Given the description of an element on the screen output the (x, y) to click on. 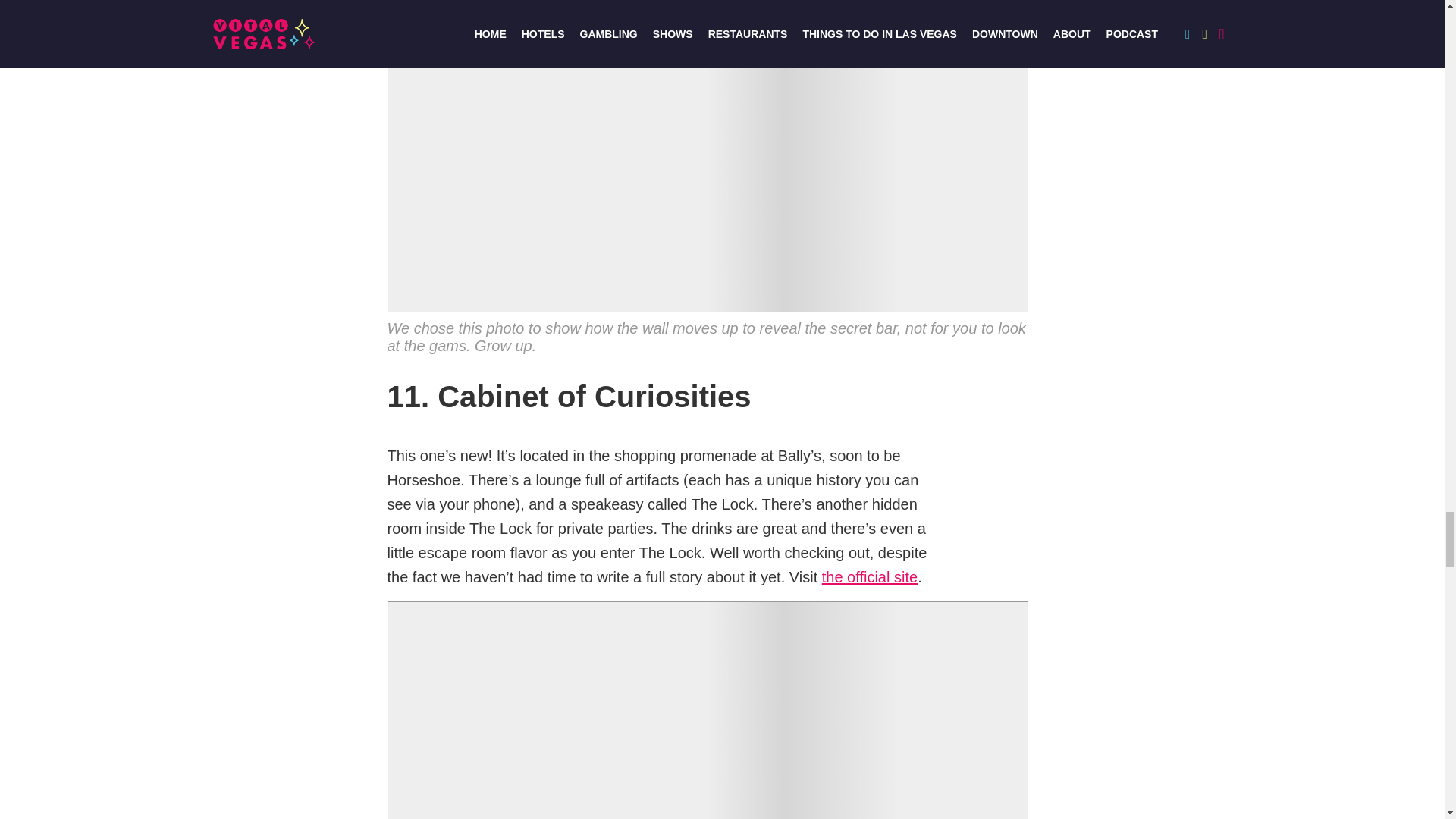
the official site (869, 576)
